Given the description of an element on the screen output the (x, y) to click on. 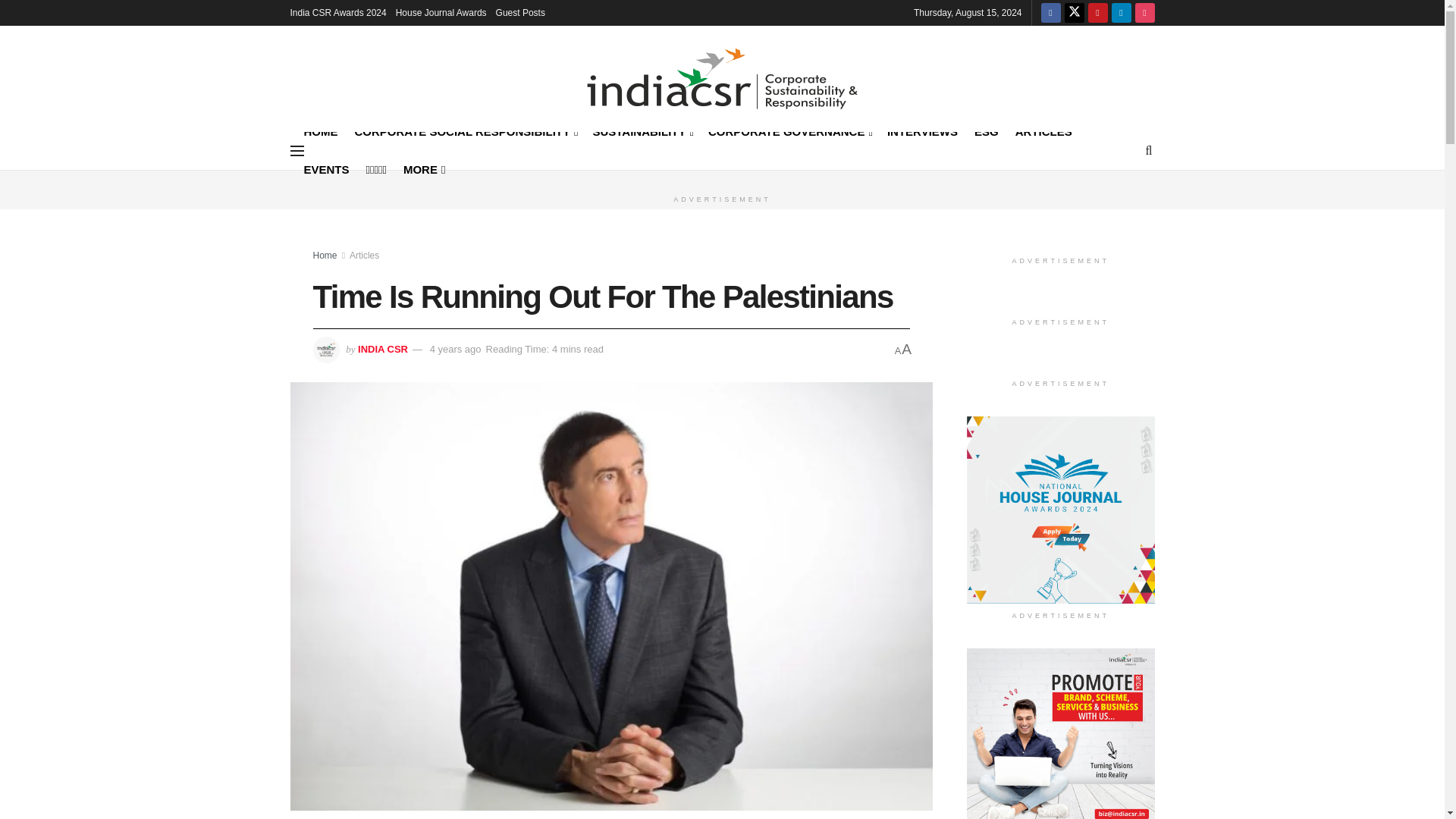
EVENTS (325, 169)
HOME (319, 131)
House Journal Awards (441, 12)
CORPORATE GOVERNANCE (788, 131)
ARTICLES (1042, 131)
India CSR Awards 2024 (337, 12)
Guest Posts (520, 12)
CORPORATE SOCIAL RESPONSIBILITY (465, 131)
ESG (986, 131)
